Given the description of an element on the screen output the (x, y) to click on. 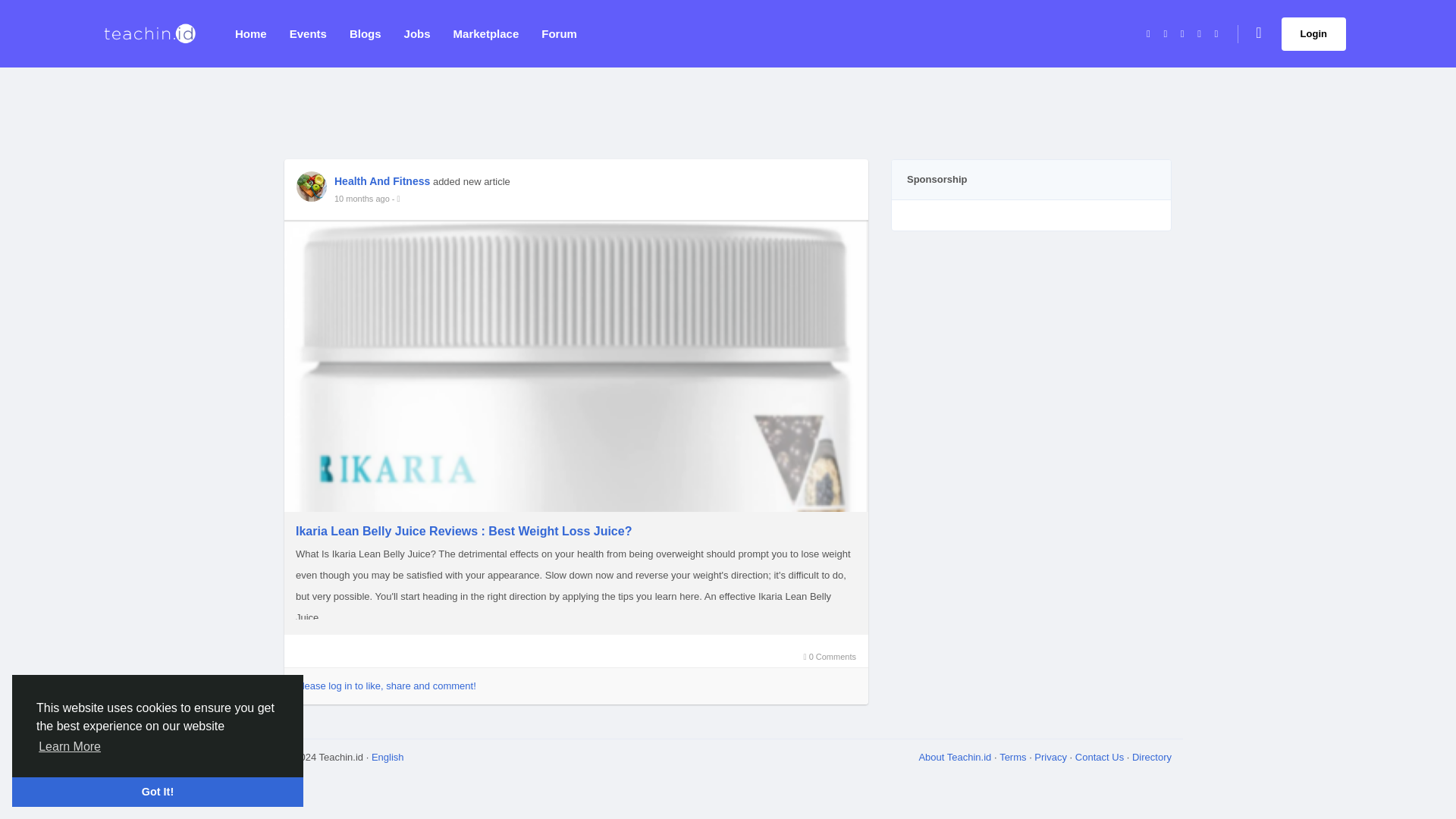
Contact Us (1099, 757)
Login (1313, 32)
Privacy (1050, 757)
Please log in to like, share and comment! (385, 685)
Learn More (69, 746)
Ikaria Lean Belly Juice Reviews : Best Weight Loss Juice? (576, 531)
Health And Fitness (381, 181)
Terms (1012, 757)
Teachin.id (149, 33)
10 months ago (362, 198)
Directory (1152, 757)
About Teachin.id (954, 757)
Marketplace (486, 33)
Wednesday, September 13, 2023 3:3 pm (362, 198)
